Given the description of an element on the screen output the (x, y) to click on. 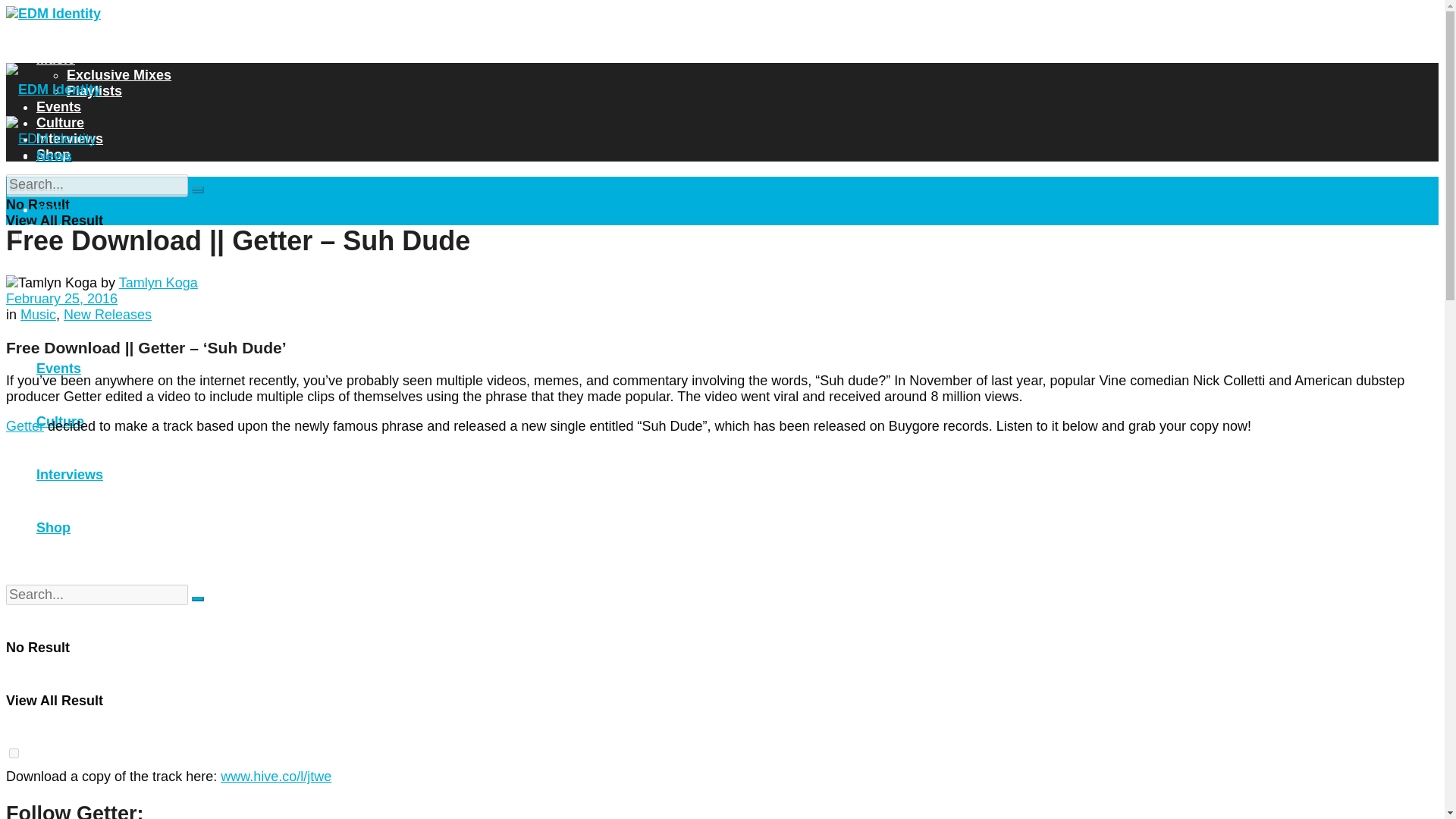
Interviews (69, 474)
Events (58, 368)
Playlists (94, 90)
Exclusive Mixes (118, 74)
Shop (52, 154)
Culture (60, 122)
Interviews (69, 138)
News (53, 155)
on (13, 235)
Events (58, 106)
Getter (24, 426)
Music (55, 58)
February 25, 2016 (61, 298)
Music (38, 314)
Shop (52, 527)
